Given the description of an element on the screen output the (x, y) to click on. 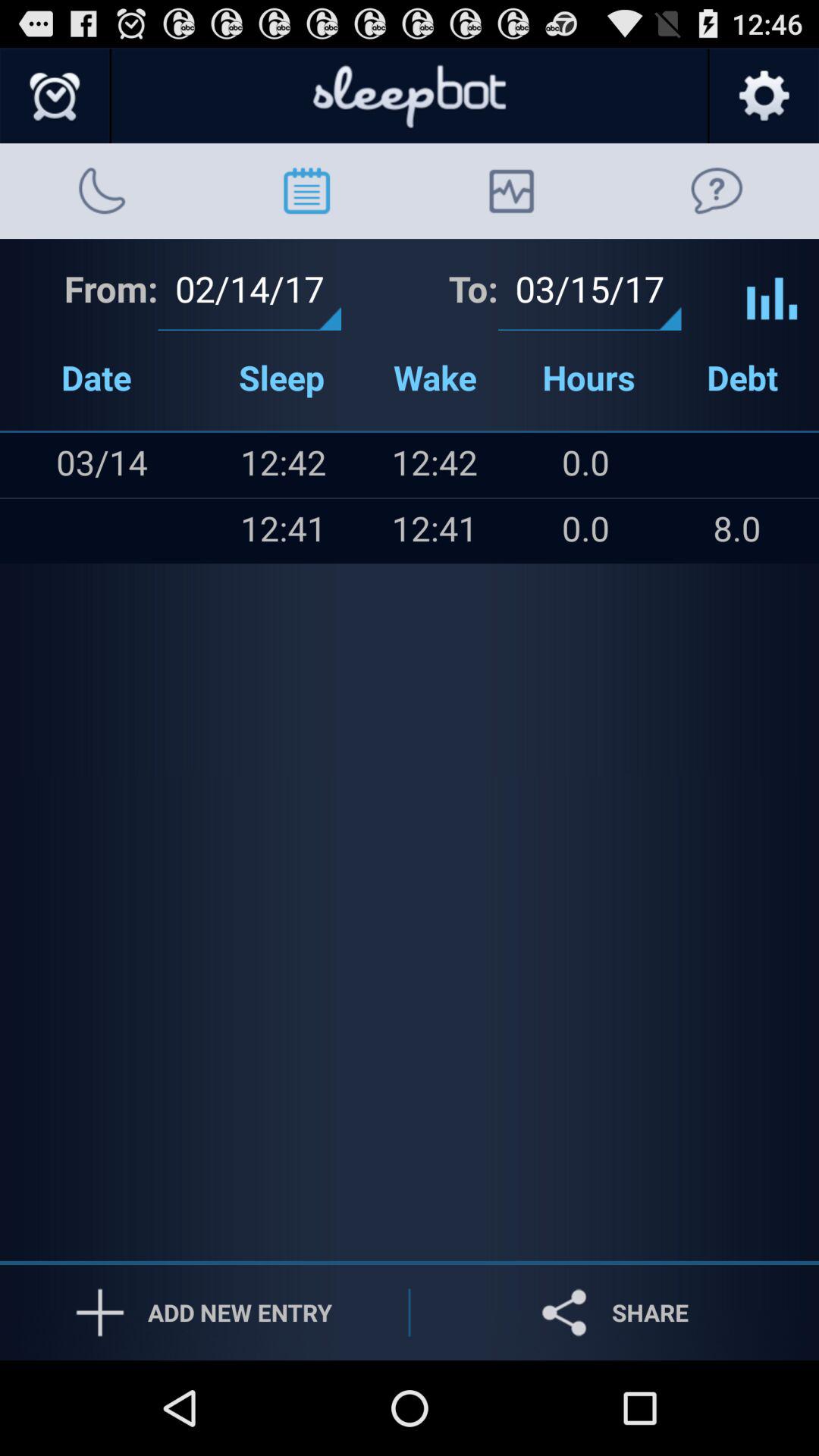
click on icon (772, 286)
